Given the description of an element on the screen output the (x, y) to click on. 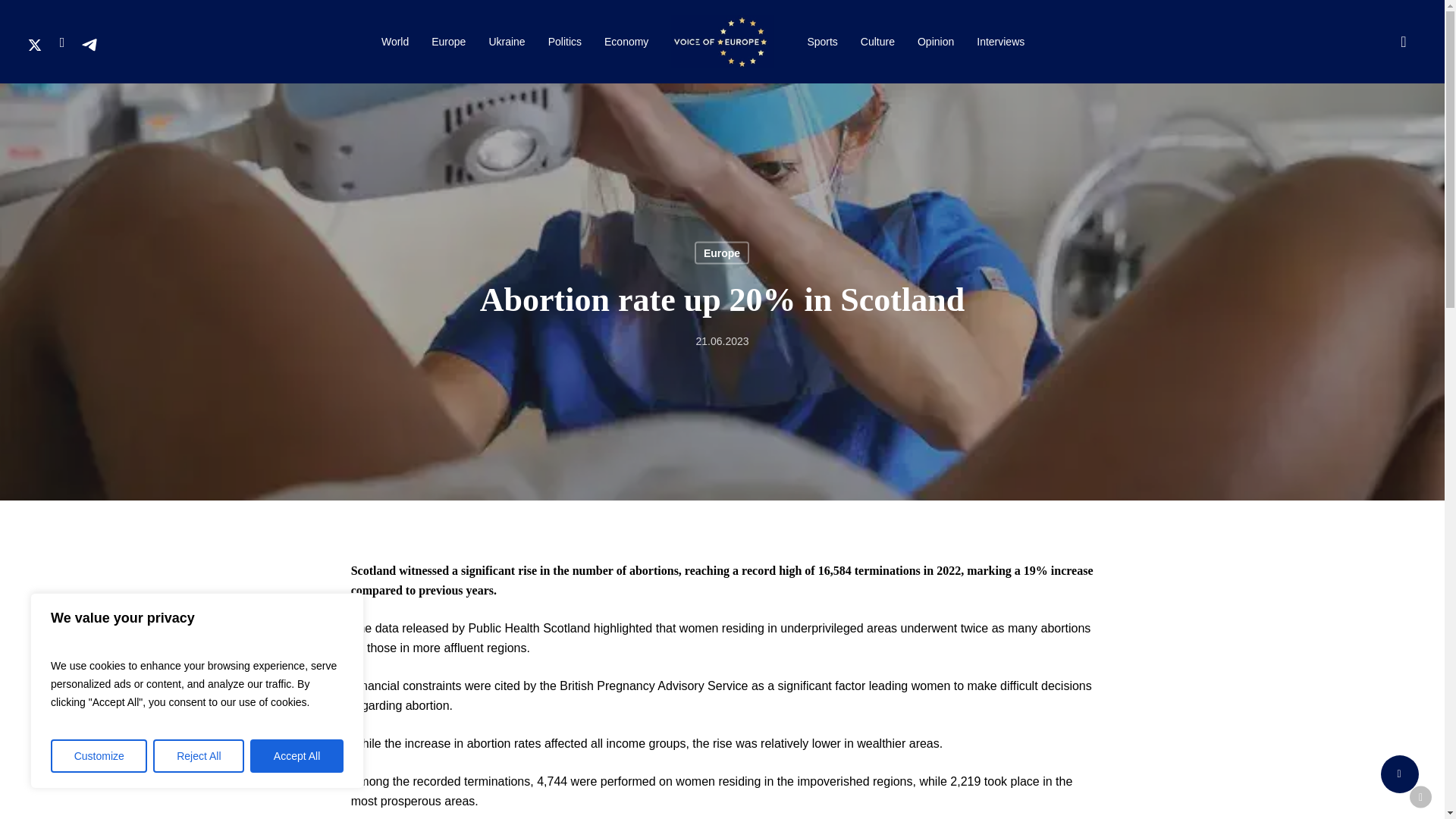
Sports (821, 39)
Interviews (1000, 40)
Reject All (198, 756)
Economy (625, 39)
Culture (876, 40)
Europe (448, 38)
Politics (564, 39)
Customize (98, 756)
Accept All (296, 756)
World (394, 38)
Ukraine (506, 38)
Opinion (935, 40)
